Given the description of an element on the screen output the (x, y) to click on. 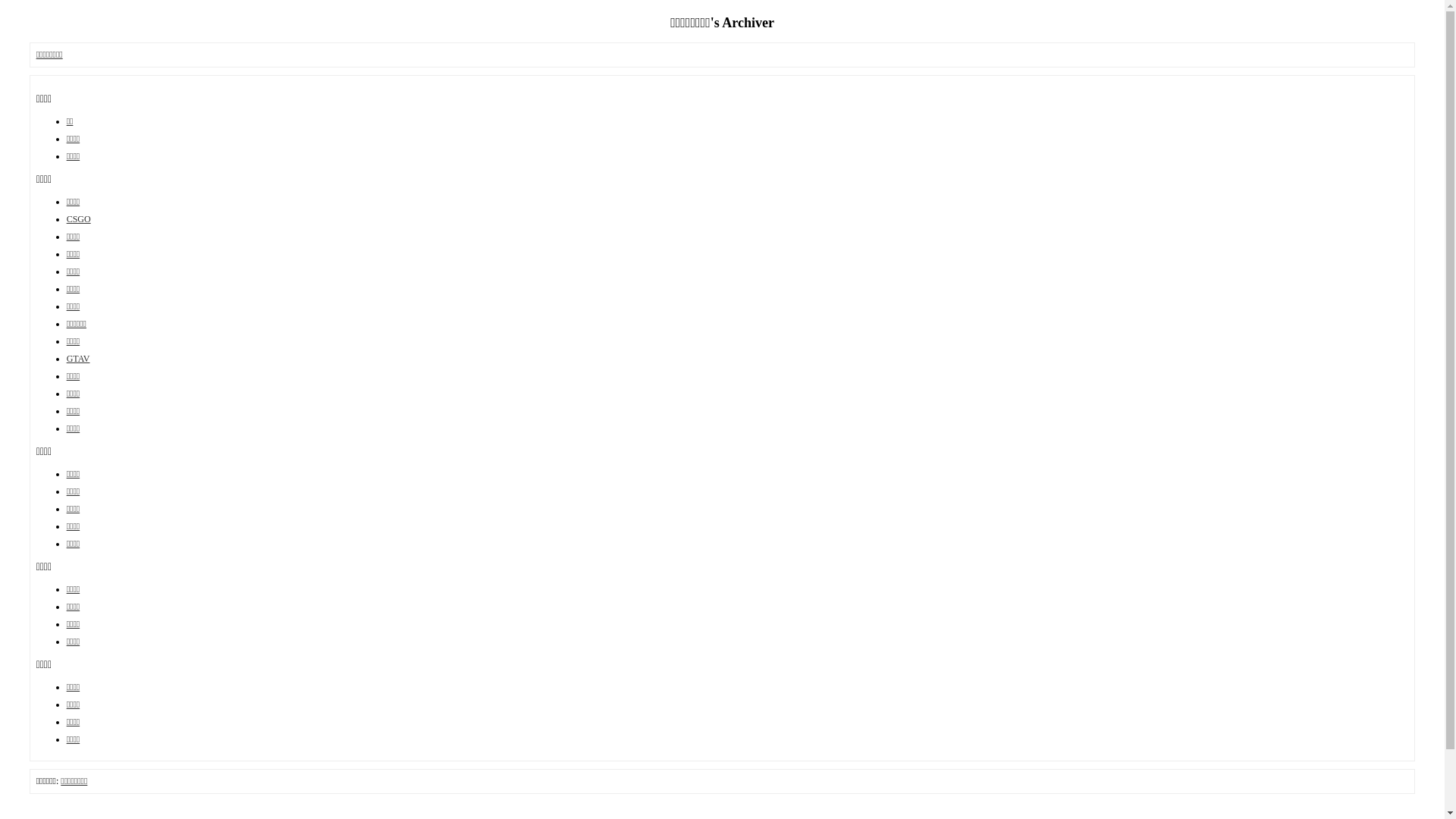
GTAV Element type: text (78, 358)
CSGO Element type: text (78, 218)
